Given the description of an element on the screen output the (x, y) to click on. 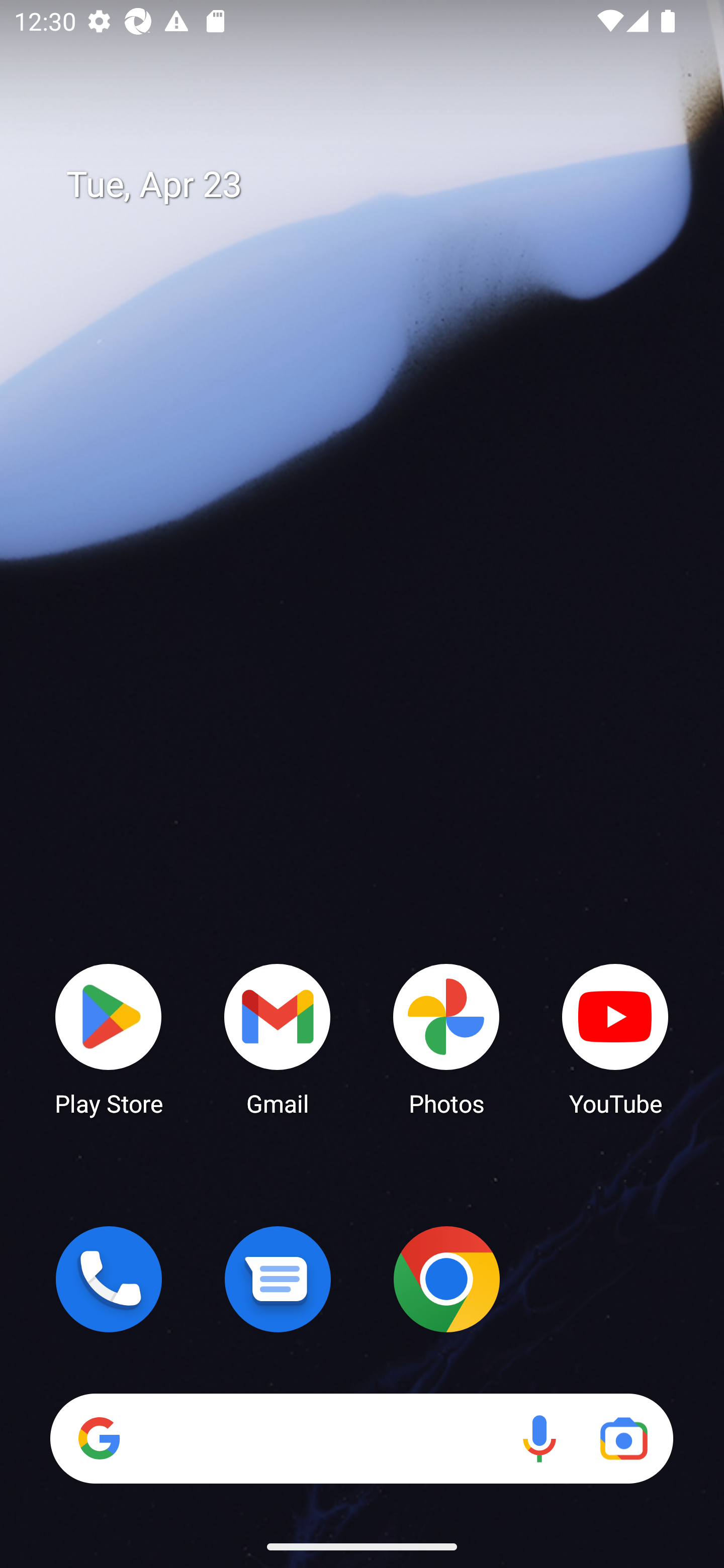
Tue, Apr 23 (375, 184)
Play Store (108, 1038)
Gmail (277, 1038)
Photos (445, 1038)
YouTube (615, 1038)
Phone (108, 1279)
Messages (277, 1279)
Chrome (446, 1279)
Search Voice search Google Lens (361, 1438)
Voice search (539, 1438)
Google Lens (623, 1438)
